Given the description of an element on the screen output the (x, y) to click on. 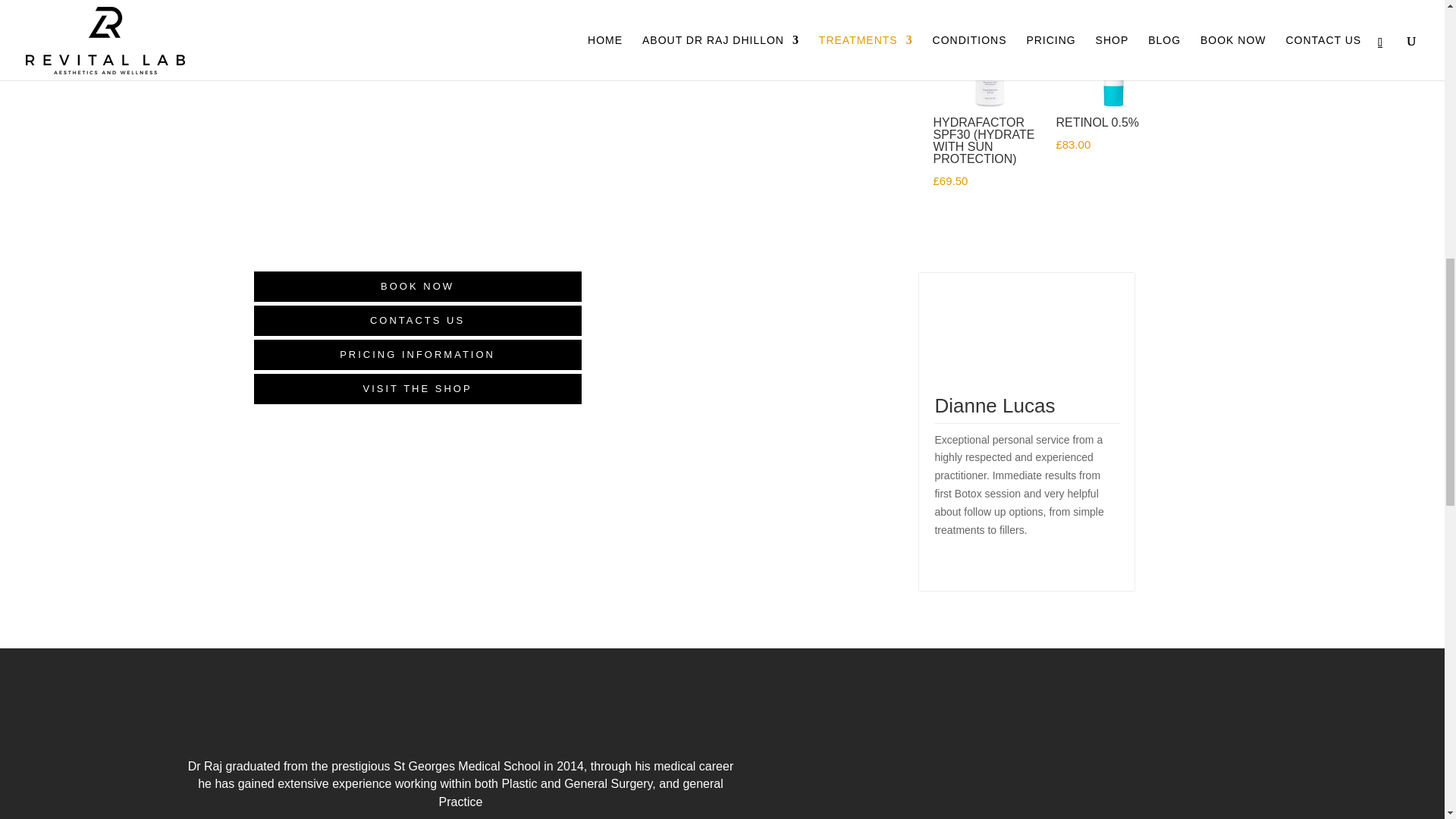
IMG-20221101-WA0007 (960, 733)
BOOK NOW (416, 286)
CONTACTS US (416, 320)
